Given the description of an element on the screen output the (x, y) to click on. 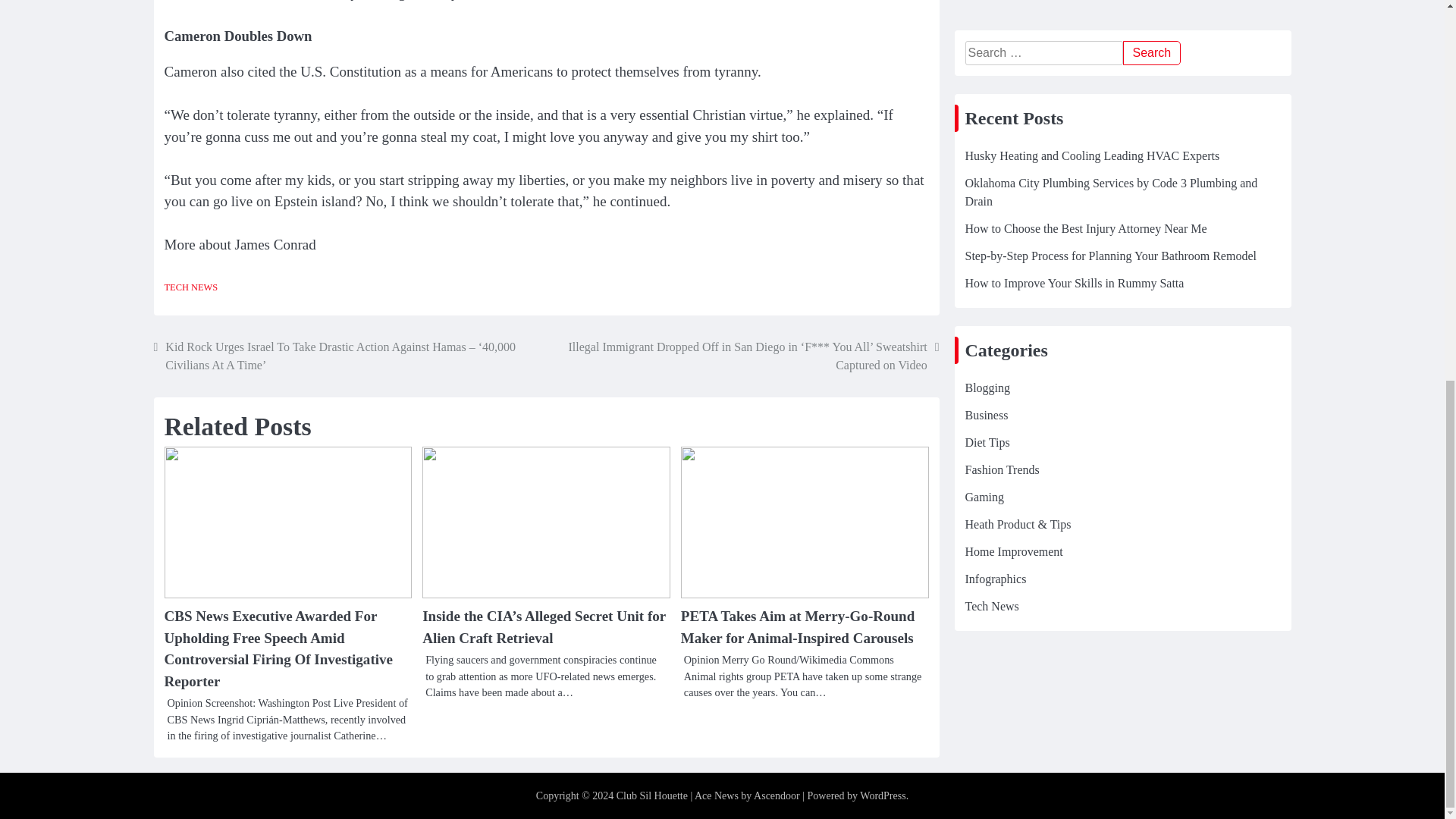
Tech News (990, 56)
TECH NEWS (189, 286)
Infographics (994, 29)
Home Improvement (1012, 4)
